Given the description of an element on the screen output the (x, y) to click on. 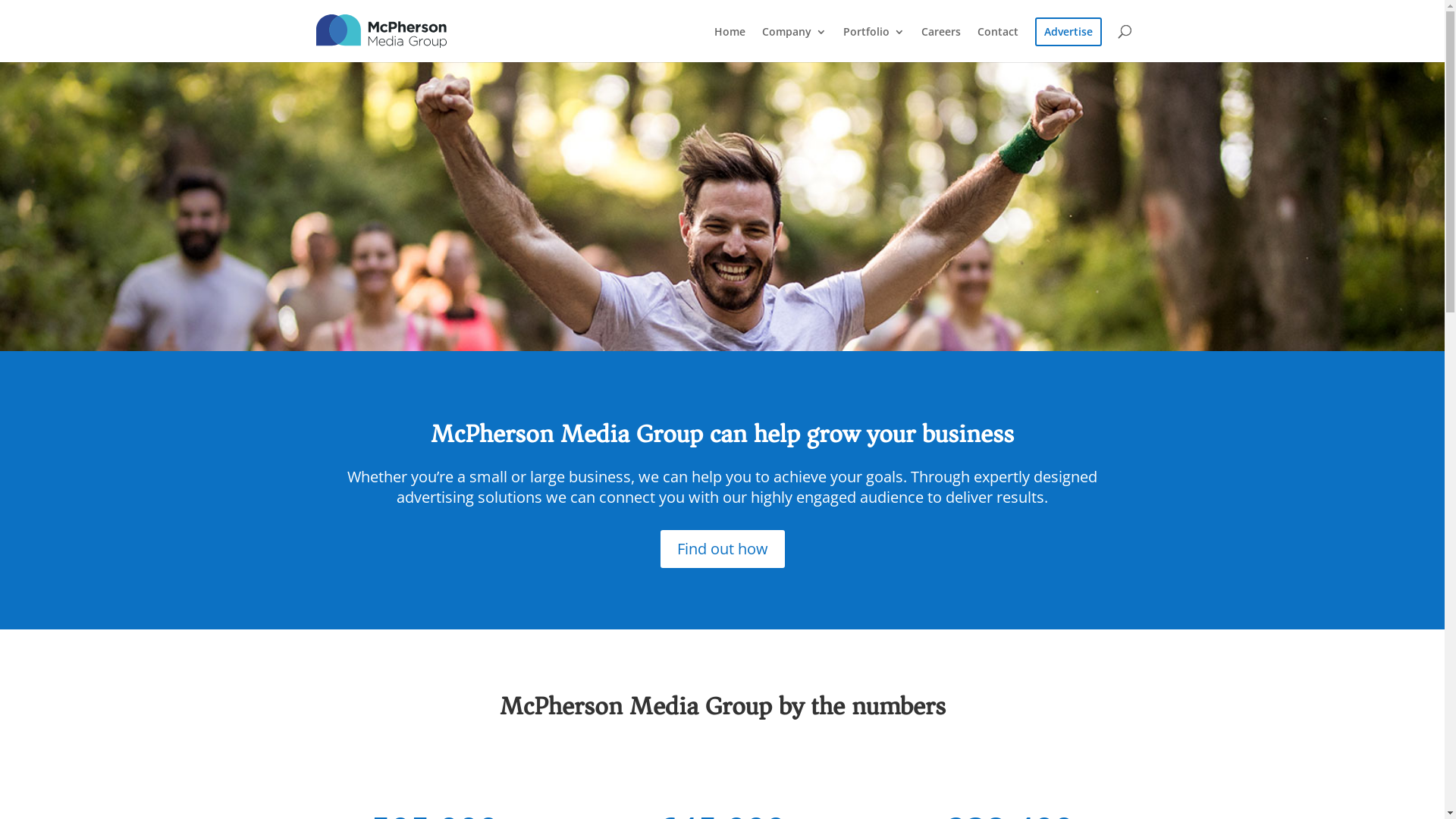
Contact Element type: text (996, 44)
Find out how Element type: text (721, 548)
Company Element type: text (793, 44)
Advertise Element type: text (1067, 31)
Careers Element type: text (940, 44)
Home Element type: text (729, 44)
Portfolio Element type: text (873, 44)
